Given the description of an element on the screen output the (x, y) to click on. 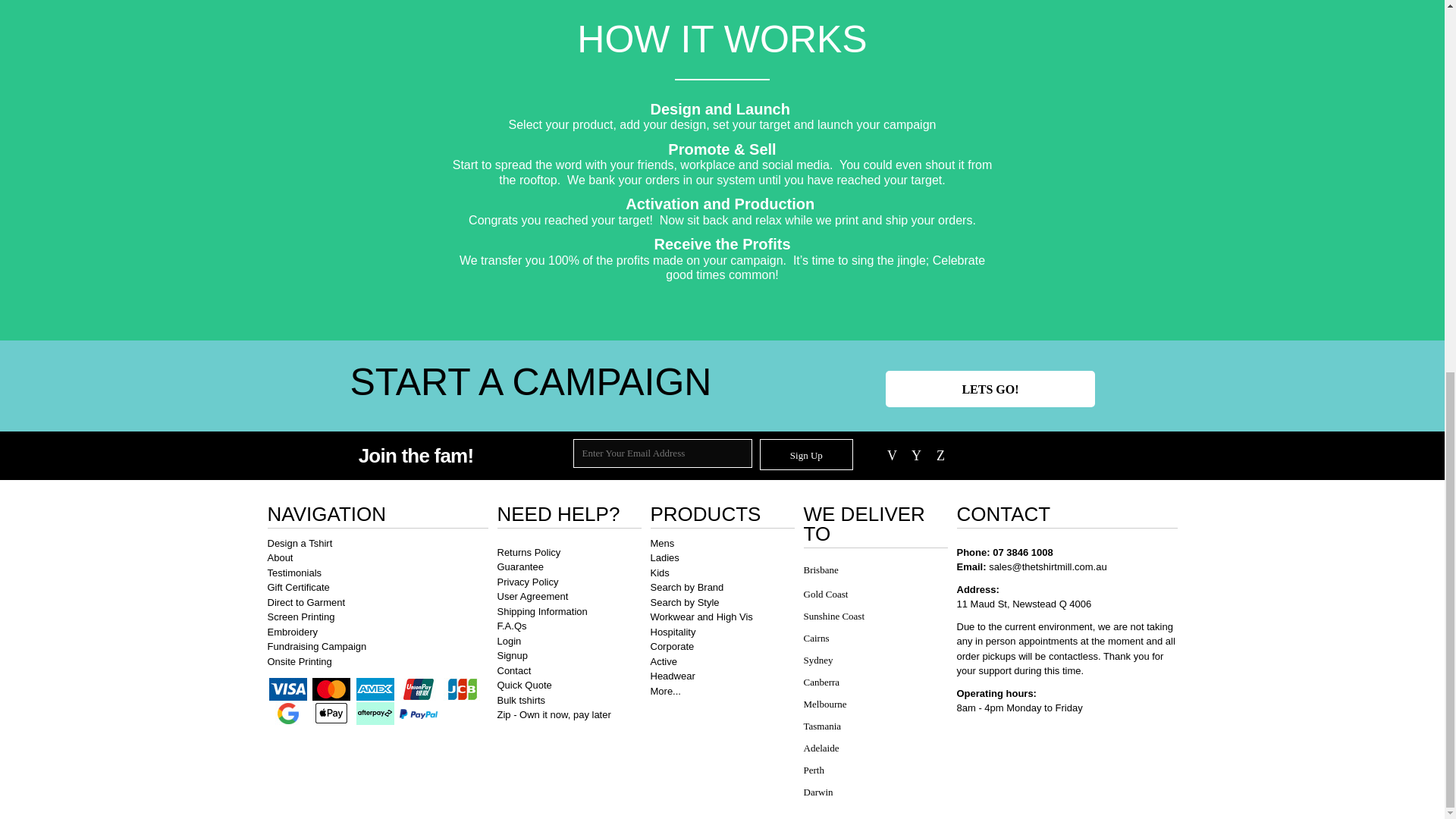
Contact (514, 670)
User Agreement (533, 595)
Direct to Garment (305, 602)
Shipping Information (542, 611)
Fundraising Campaign (316, 645)
Testimonials (293, 572)
Embroidery (291, 632)
Guarantee (520, 566)
Design a Tshirt (298, 542)
Onsite Printing (298, 661)
